Given the description of an element on the screen output the (x, y) to click on. 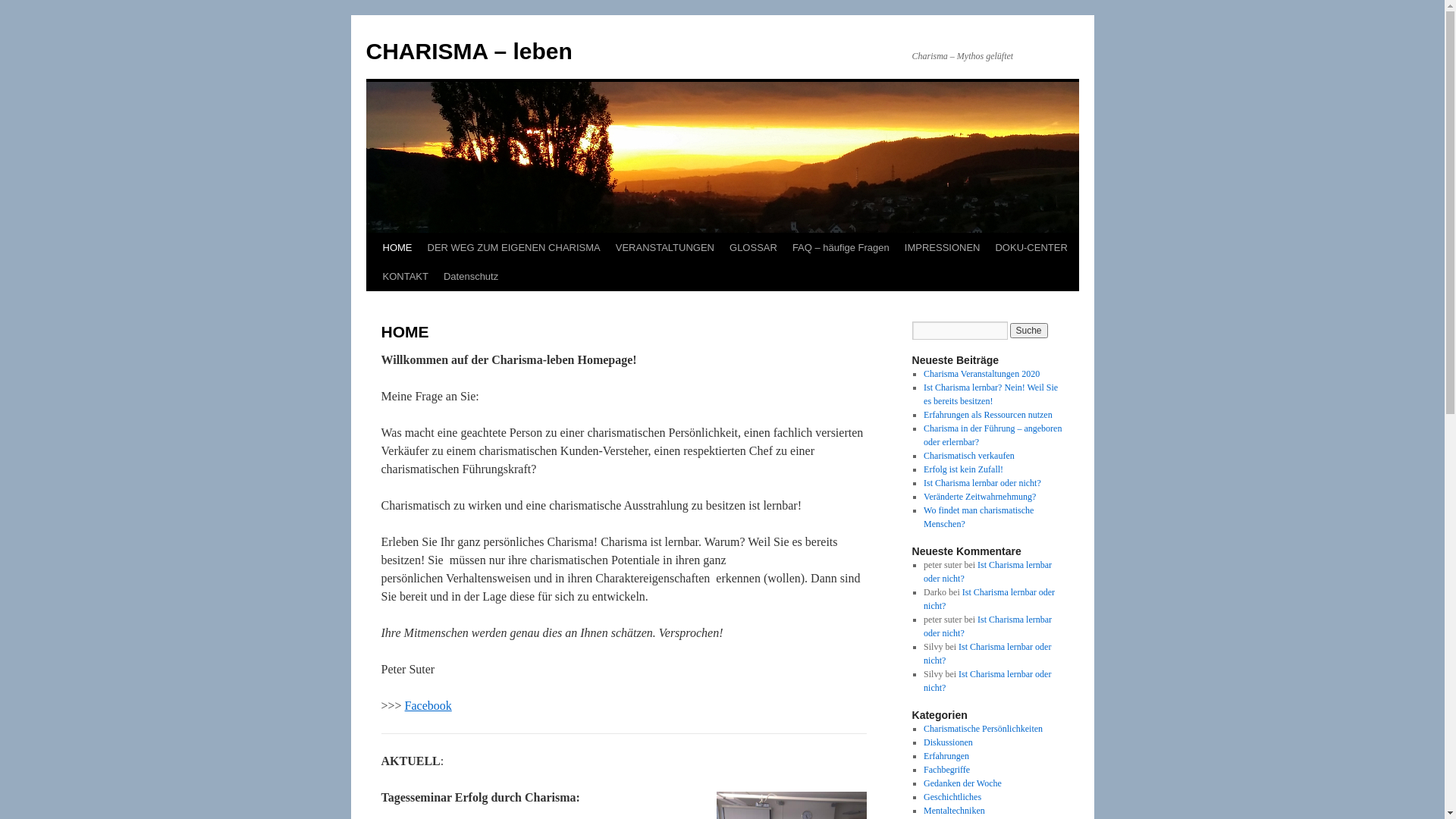
Ist Charisma lernbar oder nicht? Element type: text (987, 626)
IMPRESSIONEN Element type: text (942, 247)
HOME Element type: text (396, 247)
Datenschutz Element type: text (470, 276)
Diskussionen Element type: text (947, 742)
Charismatisch verkaufen Element type: text (968, 455)
GLOSSAR Element type: text (752, 247)
Ist Charisma lernbar oder nicht? Element type: text (988, 598)
Erfahrungen Element type: text (946, 755)
Ist Charisma lernbar? Nein! Weil Sie es bereits besitzen! Element type: text (990, 394)
Wo findet man charismatische Menschen? Element type: text (978, 517)
Facebook Element type: text (427, 705)
Erfahrungen als Ressourcen nutzen Element type: text (987, 414)
DER WEG ZUM EIGENEN CHARISMA Element type: text (514, 247)
Ist Charisma lernbar oder nicht? Element type: text (987, 680)
Charisma Veranstaltungen 2020 Element type: text (981, 373)
Suche Element type: text (1029, 330)
Ist Charisma lernbar oder nicht? Element type: text (987, 571)
VERANSTALTUNGEN Element type: text (664, 247)
DOKU-CENTER Element type: text (1030, 247)
Ist Charisma lernbar oder nicht? Element type: text (987, 653)
Geschichtliches Element type: text (952, 796)
Ist Charisma lernbar oder nicht? Element type: text (982, 482)
Zum Inhalt springen Element type: text (372, 275)
KONTAKT Element type: text (404, 276)
Gedanken der Woche Element type: text (962, 783)
Mentaltechniken Element type: text (954, 810)
Erfolg ist kein Zufall! Element type: text (963, 469)
Fachbegriffe Element type: text (946, 769)
